Given the description of an element on the screen output the (x, y) to click on. 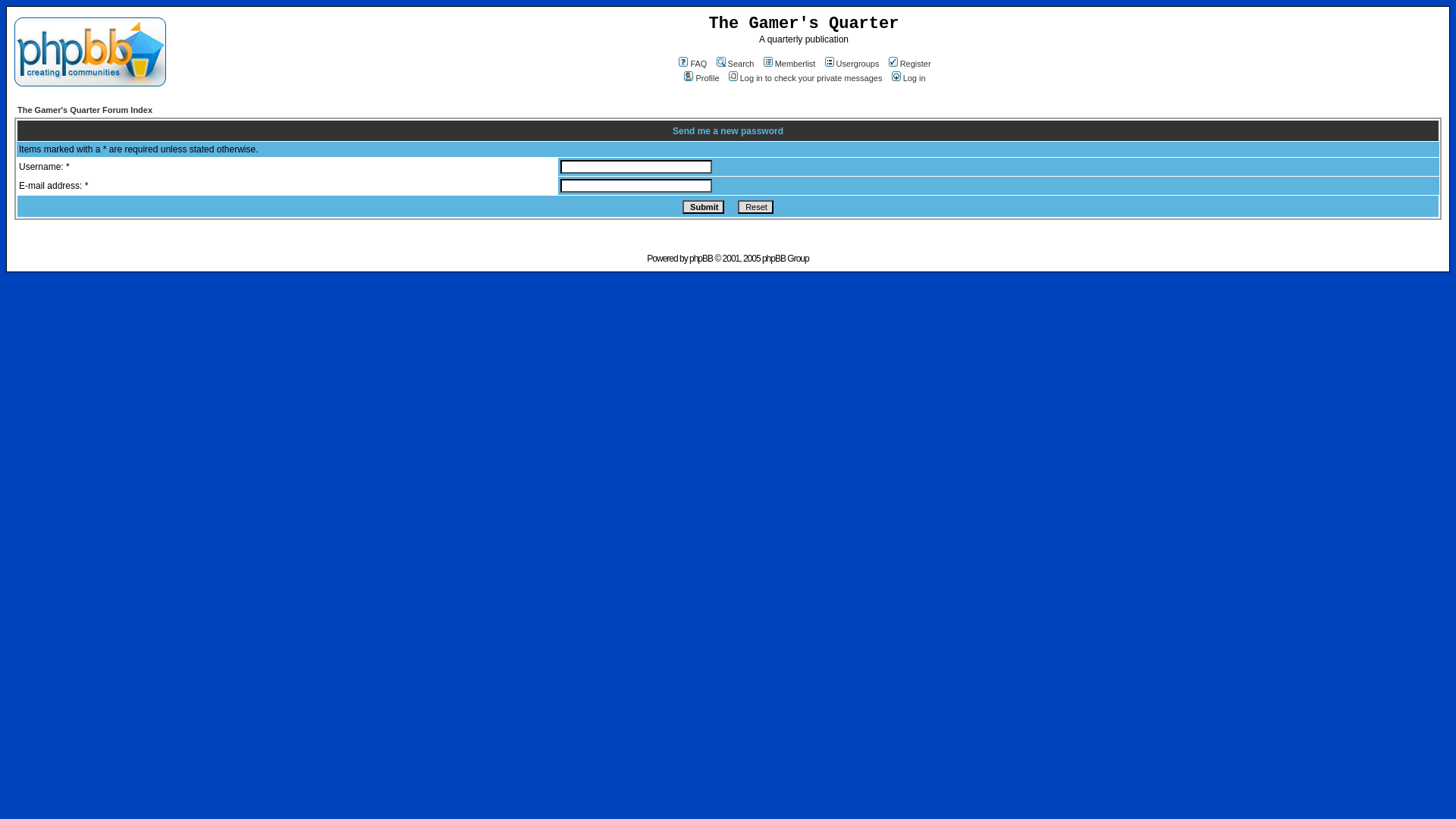
Register (908, 62)
The Gamer's Quarter Forum Index (84, 109)
Profile (700, 77)
FAQ (691, 62)
phpBB (700, 258)
Memberlist (788, 62)
Log in (907, 77)
Reset (755, 206)
Submit (702, 206)
Log in to check your private messages (804, 77)
Search (734, 62)
Usergroups (850, 62)
Submit (702, 206)
